Given the description of an element on the screen output the (x, y) to click on. 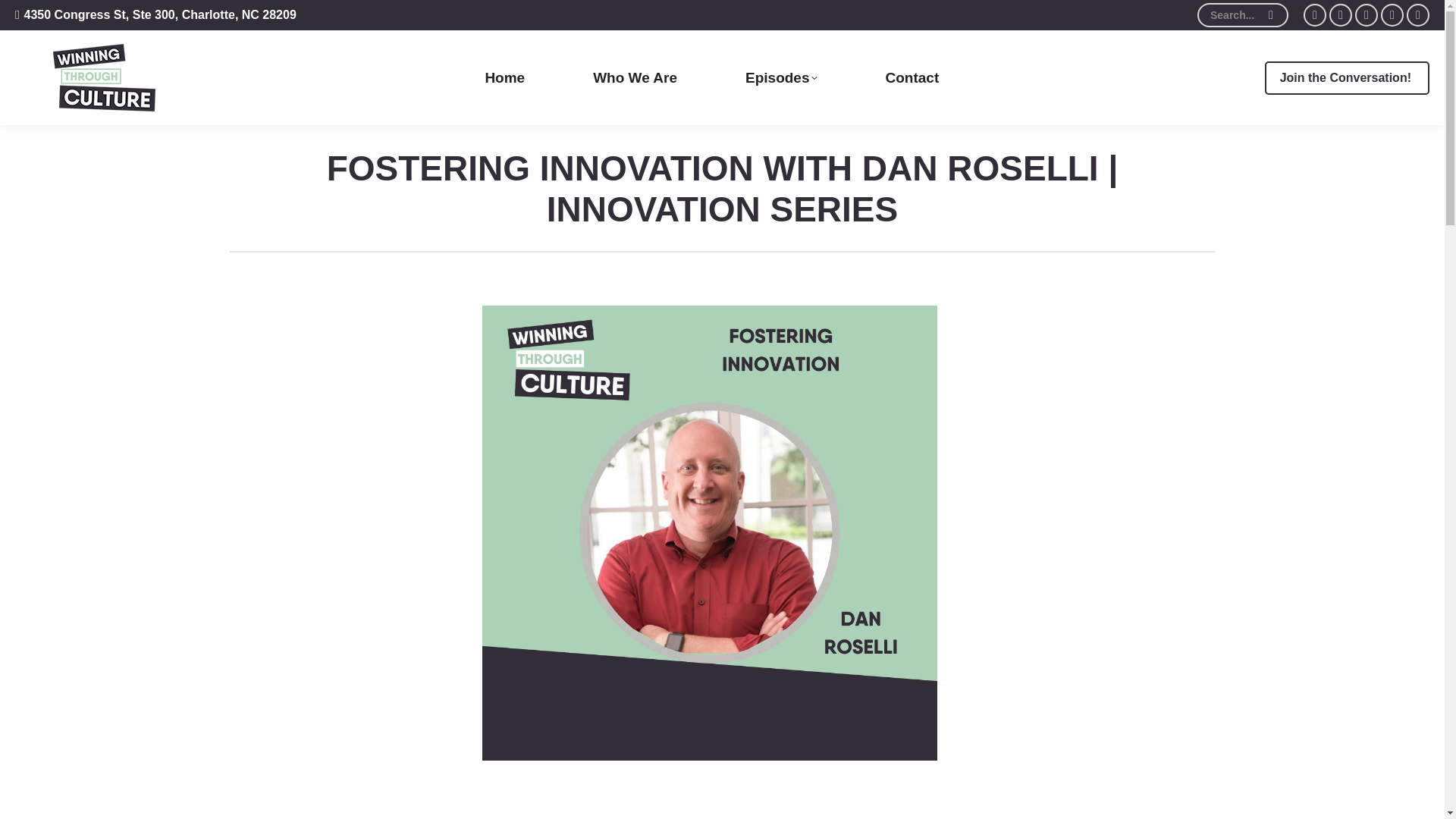
YouTube page opens in new window (1366, 15)
Contact (912, 77)
Facebook page opens in new window (1314, 15)
X page opens in new window (1340, 15)
Join the Conversation! (1347, 77)
Instagram page opens in new window (1417, 15)
X page opens in new window (1340, 15)
Instagram page opens in new window (1417, 15)
Episodes (781, 77)
YouTube page opens in new window (1366, 15)
